Given the description of an element on the screen output the (x, y) to click on. 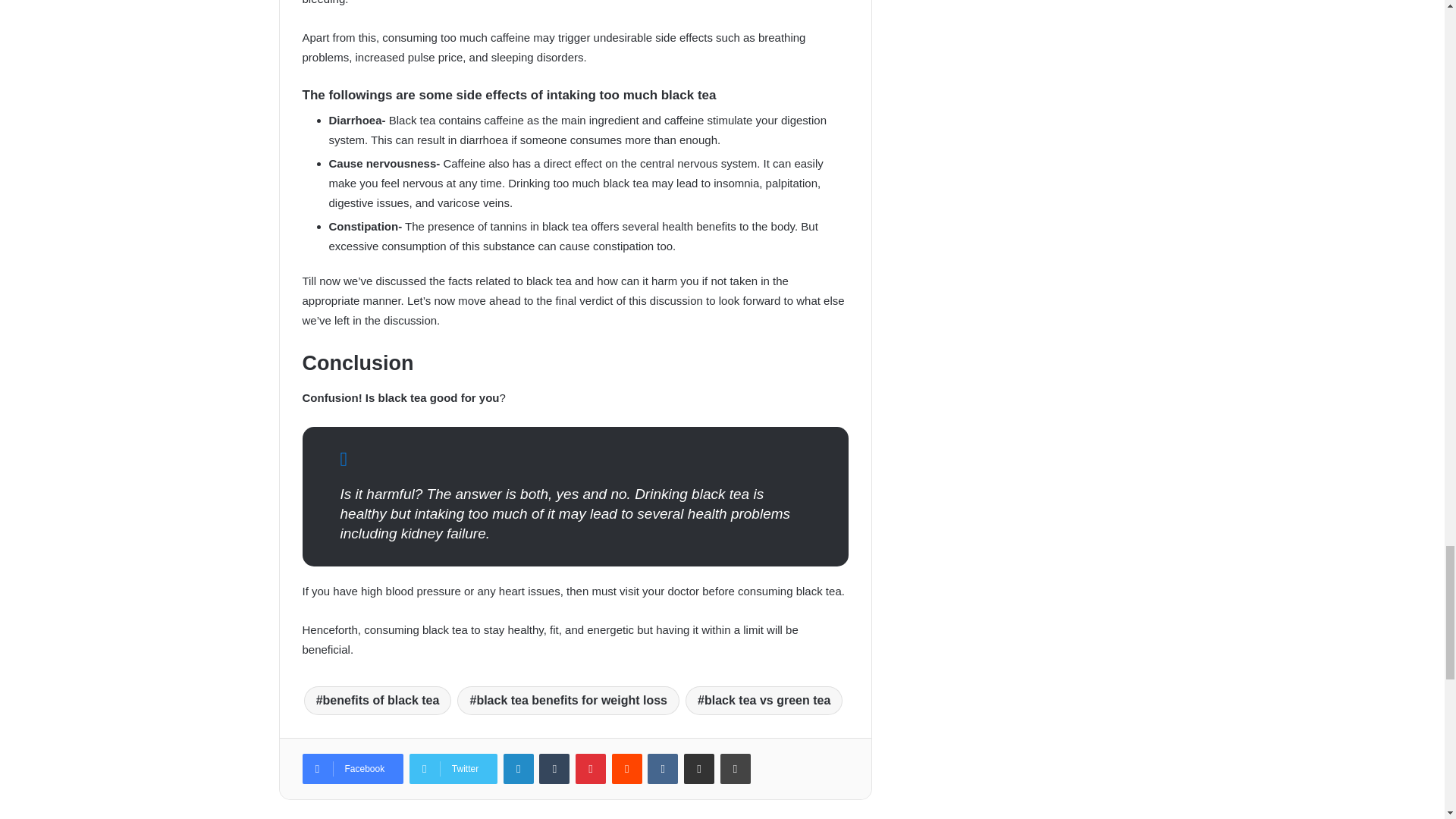
Reddit (626, 768)
Share via Email (699, 768)
Tumblr (553, 768)
Facebook (352, 768)
Twitter (453, 768)
Print (735, 768)
Share via Email (699, 768)
LinkedIn (518, 768)
Pinterest (590, 768)
benefits of black tea (377, 700)
Print (735, 768)
VKontakte (662, 768)
LinkedIn (518, 768)
black tea benefits for weight loss (568, 700)
Twitter (453, 768)
